Given the description of an element on the screen output the (x, y) to click on. 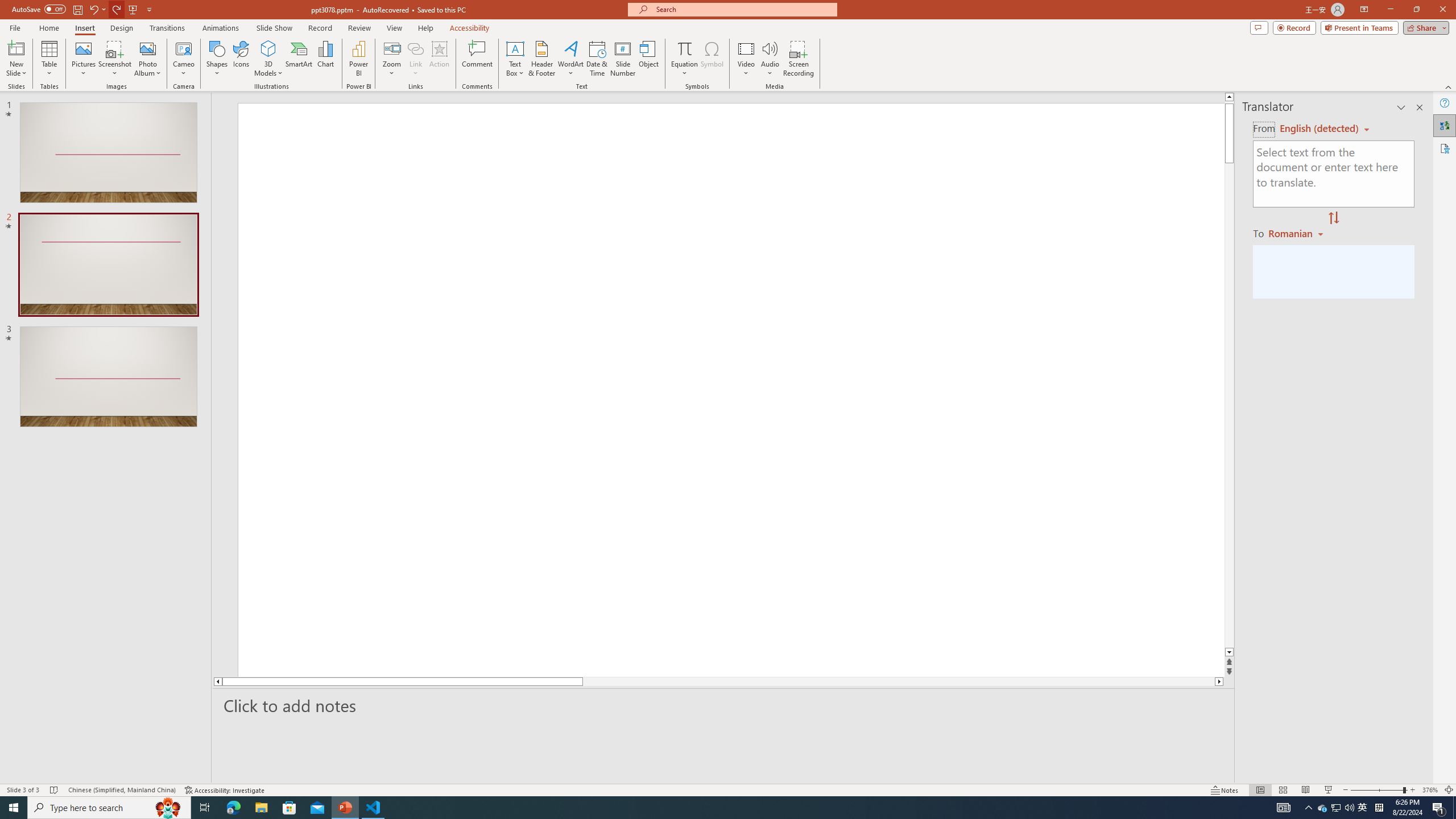
Header & Footer... (541, 58)
Table (49, 58)
Date & Time... (596, 58)
